Given the description of an element on the screen output the (x, y) to click on. 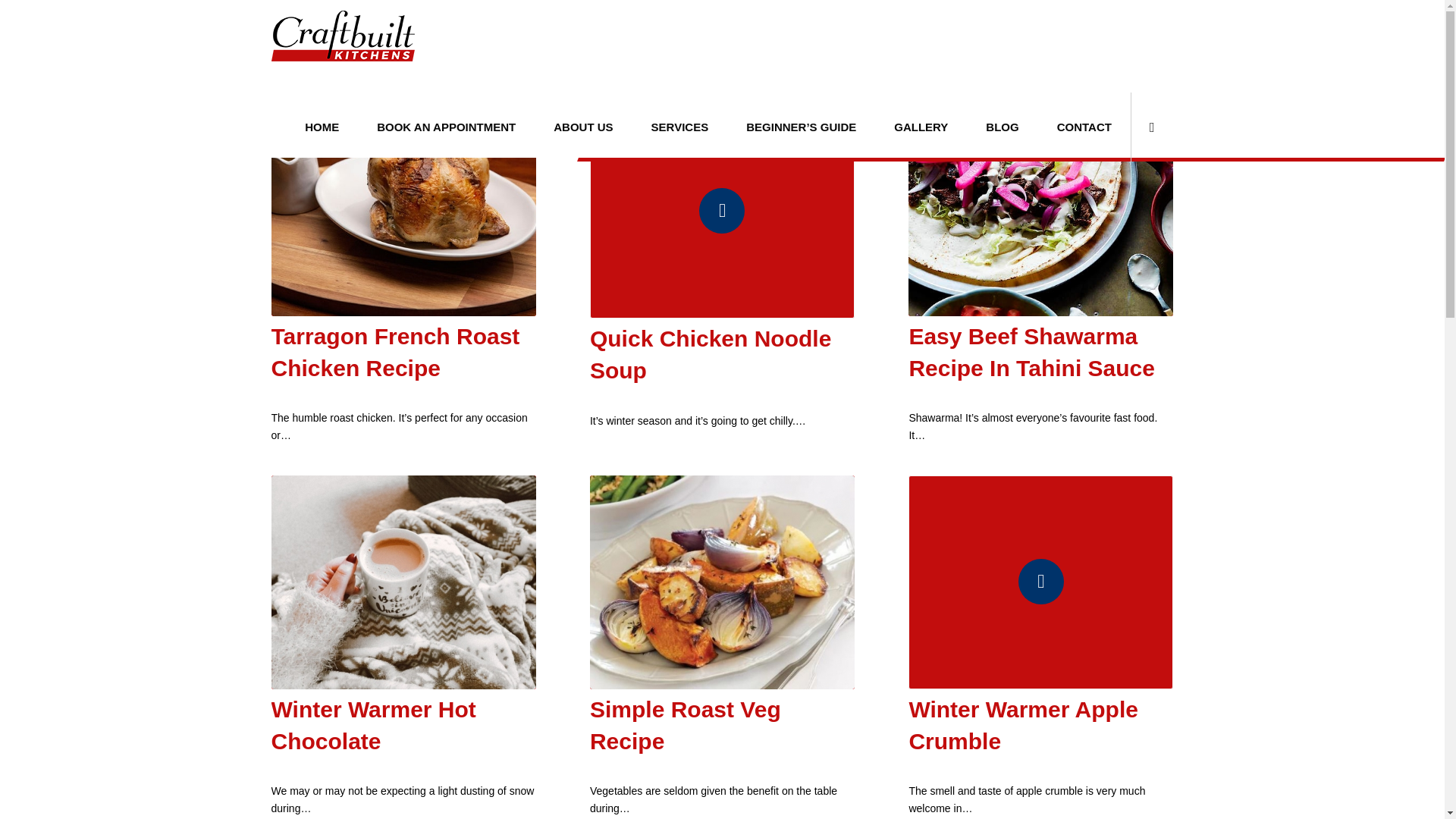
Winter Warmer Hot Chocolate (373, 724)
Tarragon French Roast Chicken Recipe (394, 351)
BOOK AN APPOINTMENT (445, 127)
Simple Roast Veg Recipe (684, 724)
Easy Beef Shawarma Recipe In Tahini Sauce (1031, 351)
Winter Warmer Apple Crumble (1040, 582)
Winter Warmer Hot Chocolate (373, 724)
Tarragon French Roast Chicken Recipe (394, 351)
Simple Roast Veg Recipe (684, 724)
Simple Roast Veg Recipe (721, 582)
Quick Chicken Noodle Soup (710, 354)
Quick Chicken Noodle Soup (710, 354)
Winter Warmer Hot Chocolate (402, 582)
Winter Warmer Apple Crumble (1023, 724)
Tarragon French Roast Chicken Recipe (402, 210)
